Given the description of an element on the screen output the (x, y) to click on. 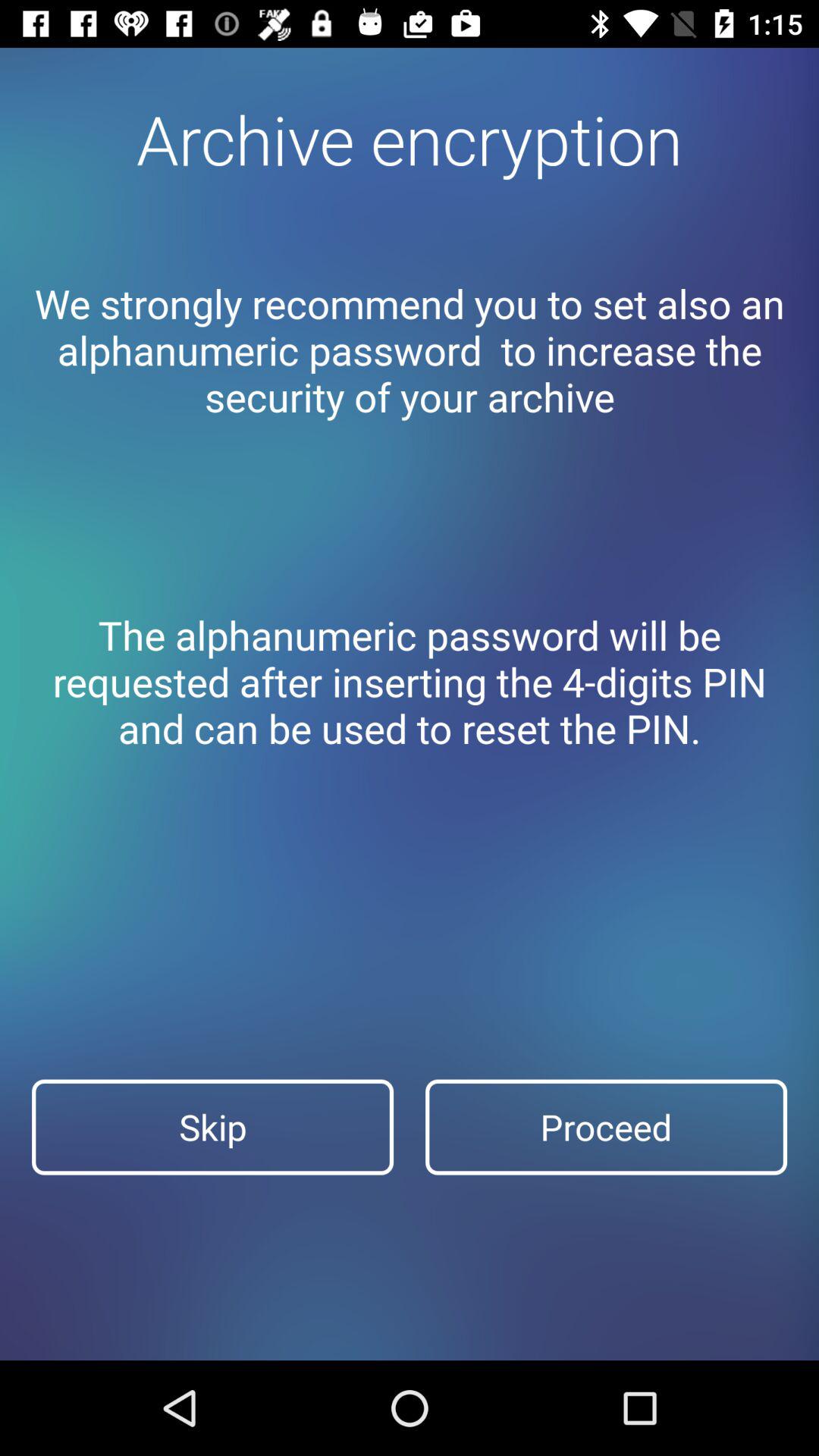
choose icon to the left of proceed item (212, 1127)
